Given the description of an element on the screen output the (x, y) to click on. 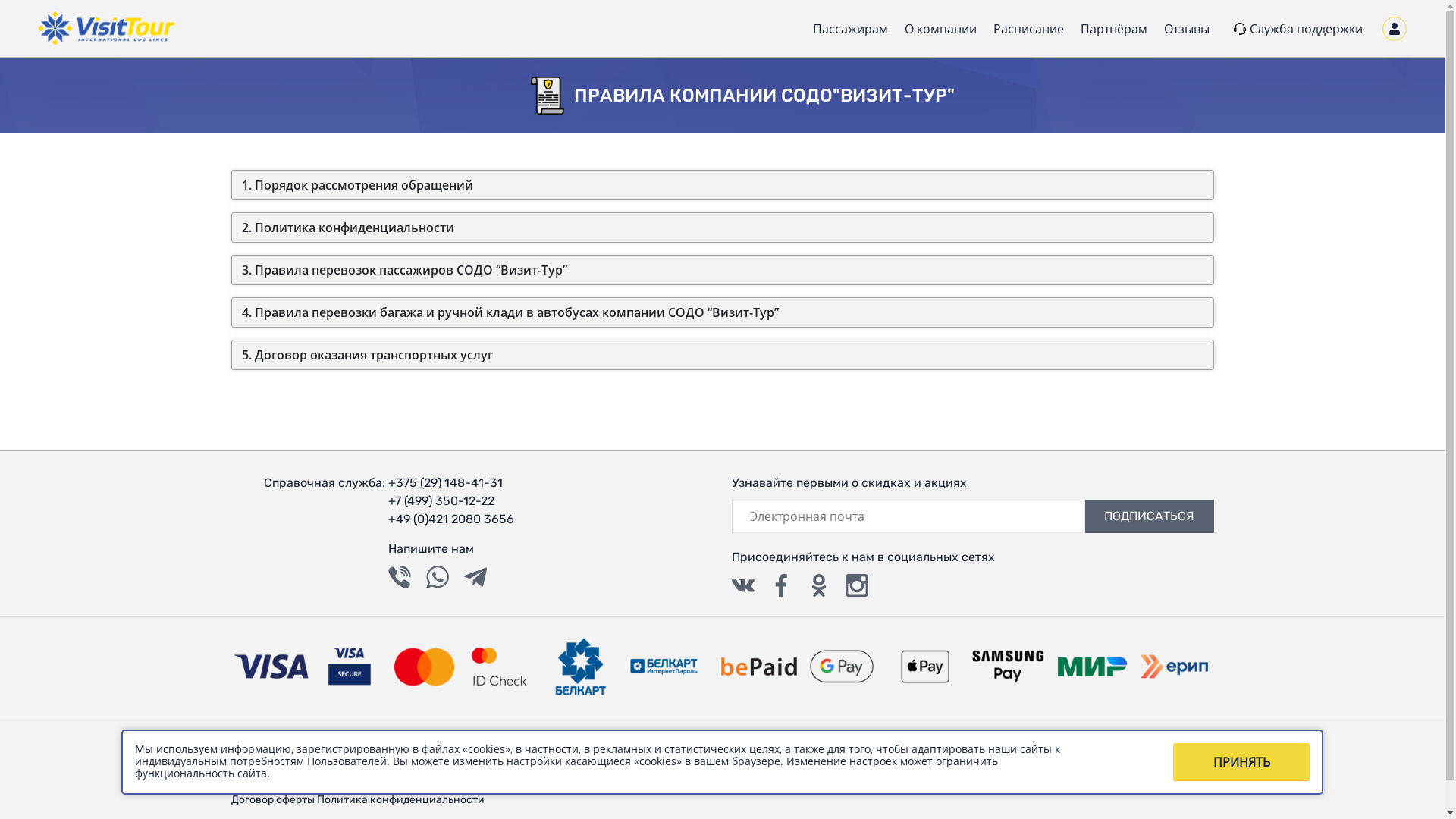
Viber Element type: hover (399, 576)
+49 (0)421 2080 3656 Element type: text (451, 519)
Whatsapp Element type: hover (437, 576)
Telegram Element type: hover (475, 576)
+375 (29) 148-41-31 Element type: text (451, 482)
+7 (499) 350-12-22 Element type: text (451, 501)
